Given the description of an element on the screen output the (x, y) to click on. 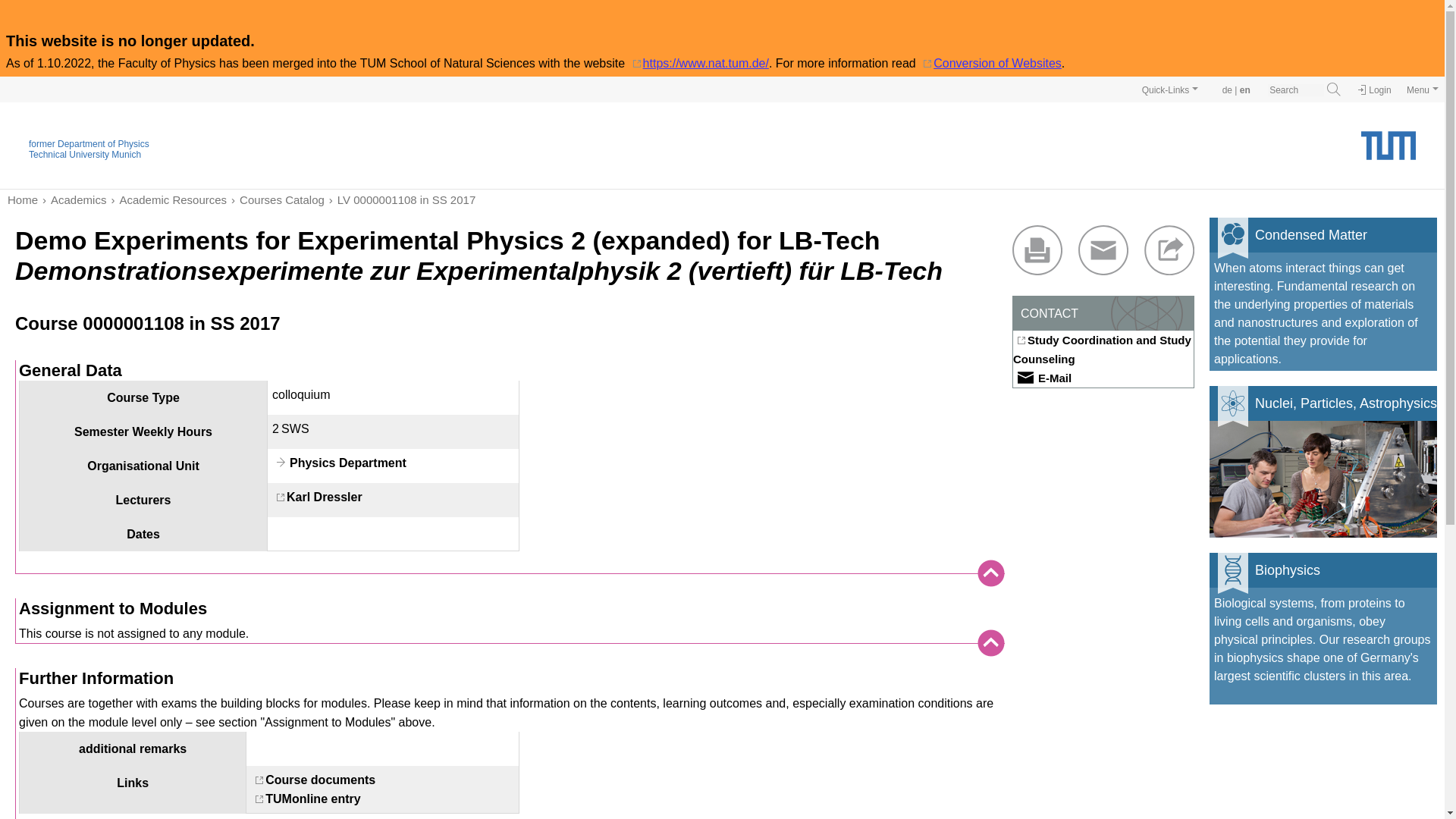
Quick-Links (1170, 89)
Conversion of Websites (989, 62)
Karl Dressler (317, 496)
Academics (71, 199)
zur deutschen Seite wechseln (1227, 90)
the English language version is displayed (1245, 90)
Module Catalog in Physics (275, 199)
Login (1374, 90)
Physics Department (339, 462)
former Department of Physics (89, 143)
Home (22, 199)
Courses Catalog (275, 199)
Search phrase to find on these webpages (1295, 90)
Academic Resources (166, 199)
Technical University Munich (85, 154)
